Given the description of an element on the screen output the (x, y) to click on. 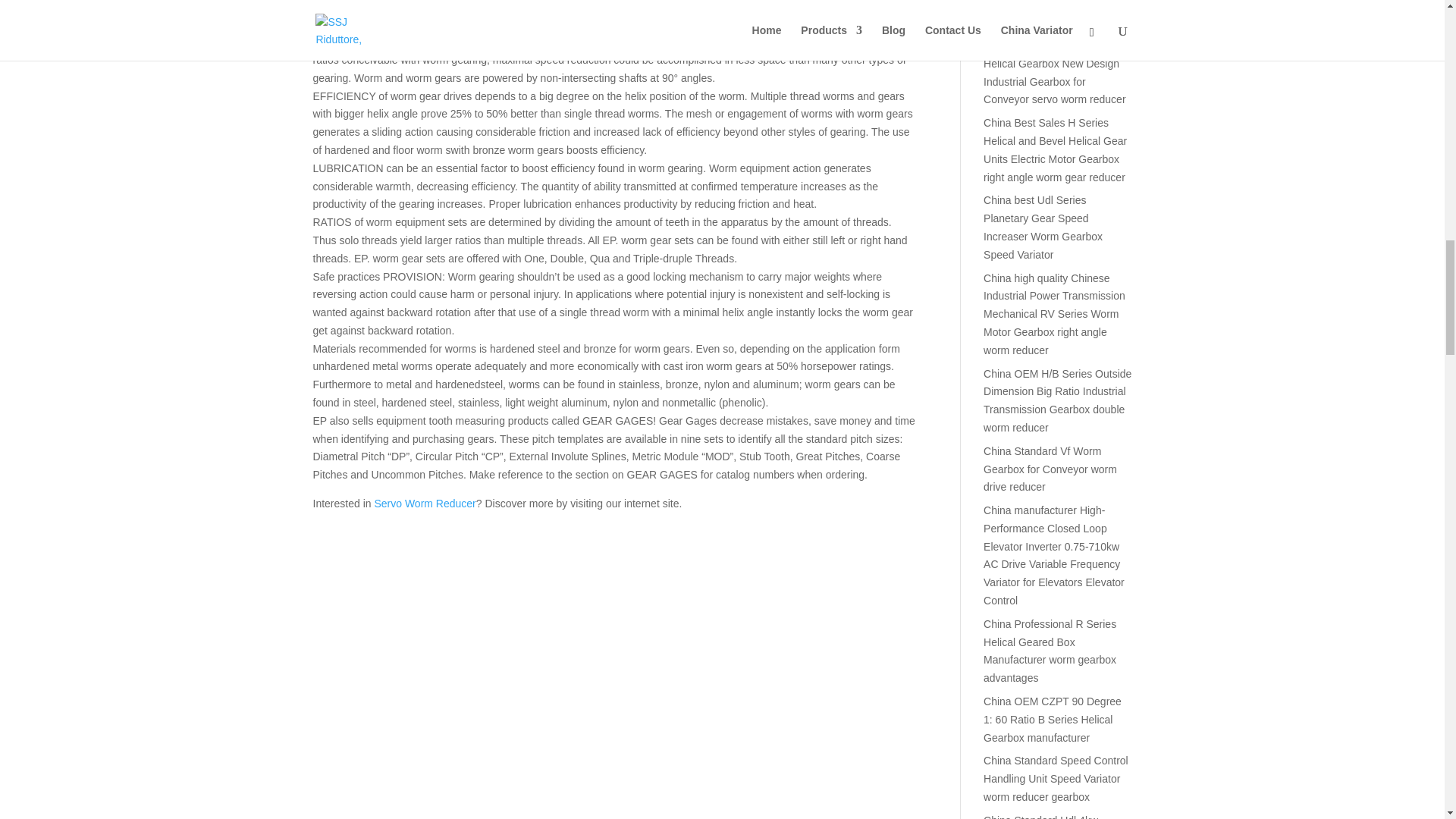
Servo Worm Reducer (425, 503)
